Given the description of an element on the screen output the (x, y) to click on. 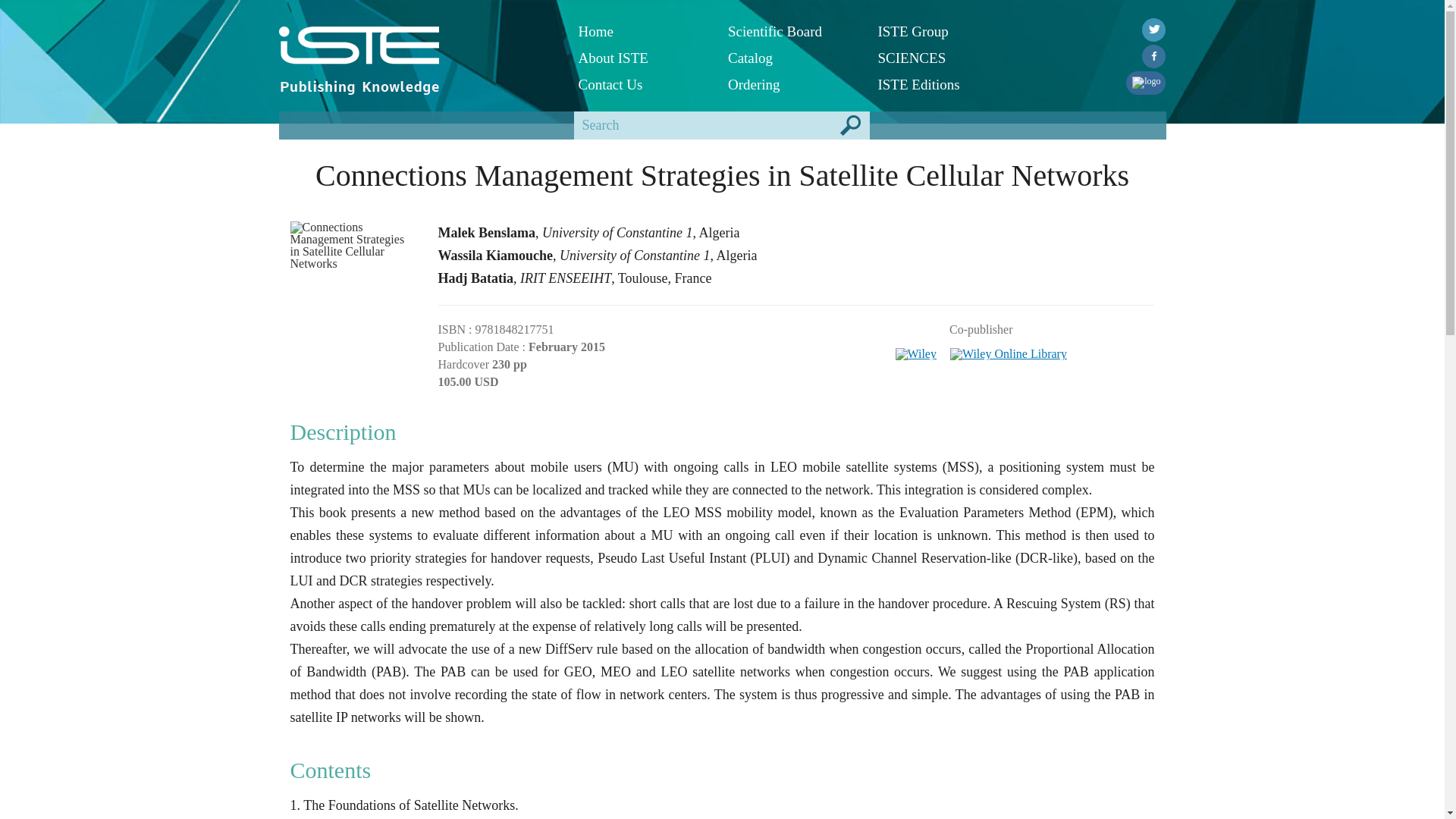
Ordering (791, 84)
Home (641, 31)
Wiley (915, 349)
Scientific Board (791, 31)
Catalog PDF (791, 58)
ISTE Editions (940, 84)
Publishing Knowledge (359, 86)
SCIENCES (940, 58)
Catalog (791, 58)
ISTE Group (940, 31)
ISTE (417, 46)
About ISTE (641, 58)
Contact ISTE (641, 84)
